Given the description of an element on the screen output the (x, y) to click on. 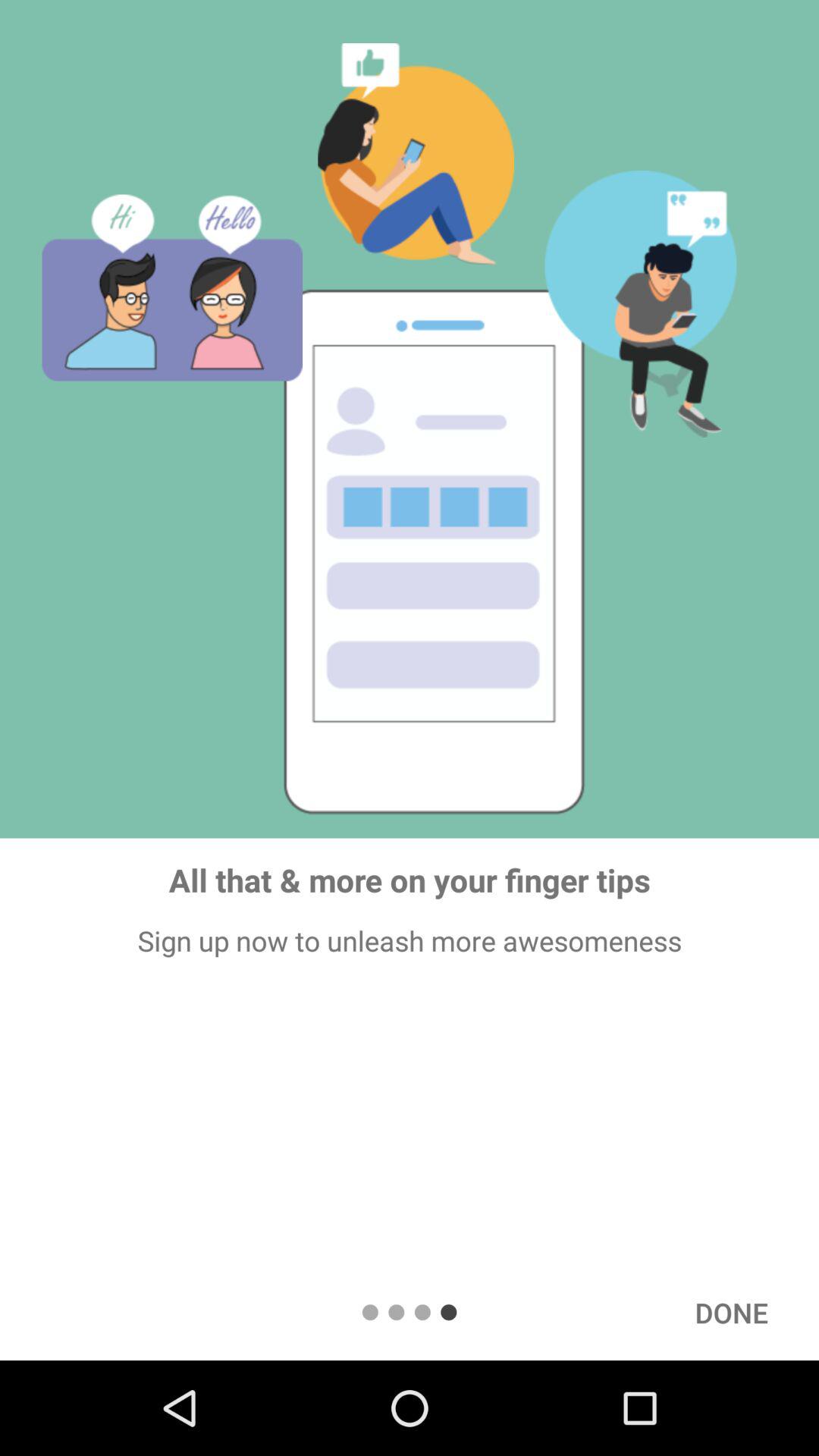
open item below sign up now icon (731, 1312)
